Given the description of an element on the screen output the (x, y) to click on. 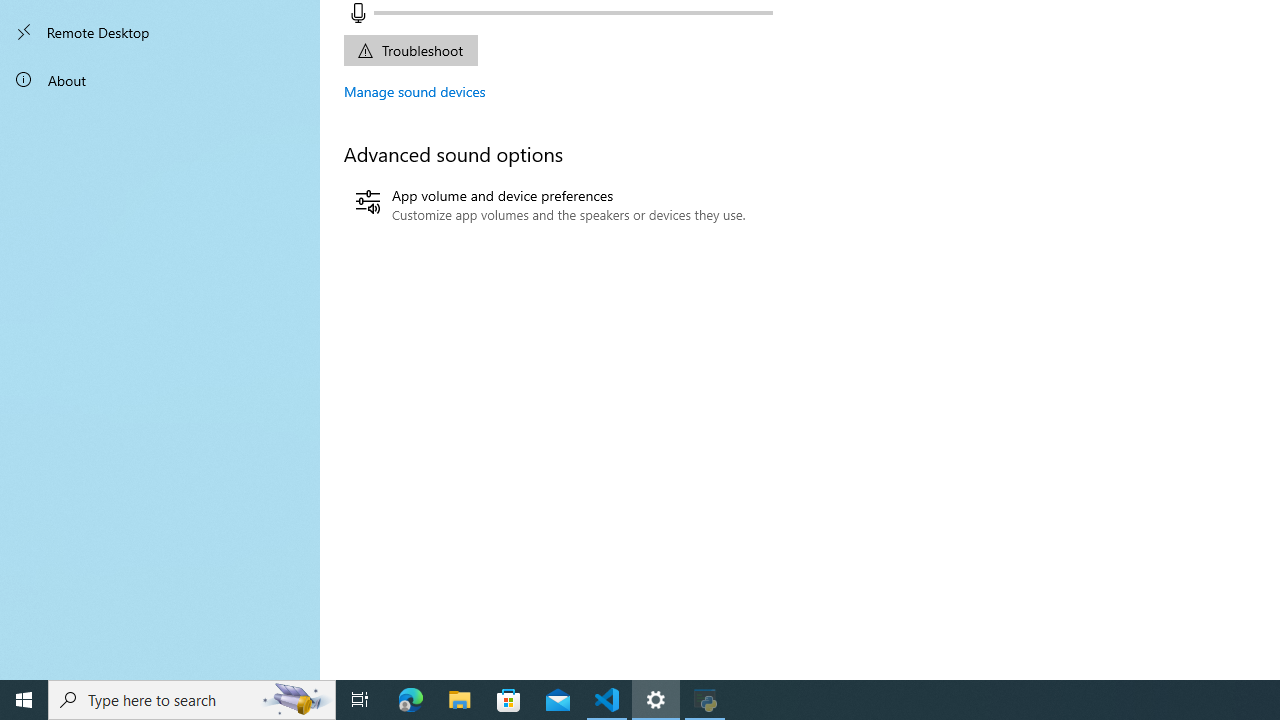
Manage sound devices (415, 91)
Input device troubleshoot (410, 50)
Remote Desktop (160, 31)
About (160, 79)
App volume and device preferences (550, 205)
